Given the description of an element on the screen output the (x, y) to click on. 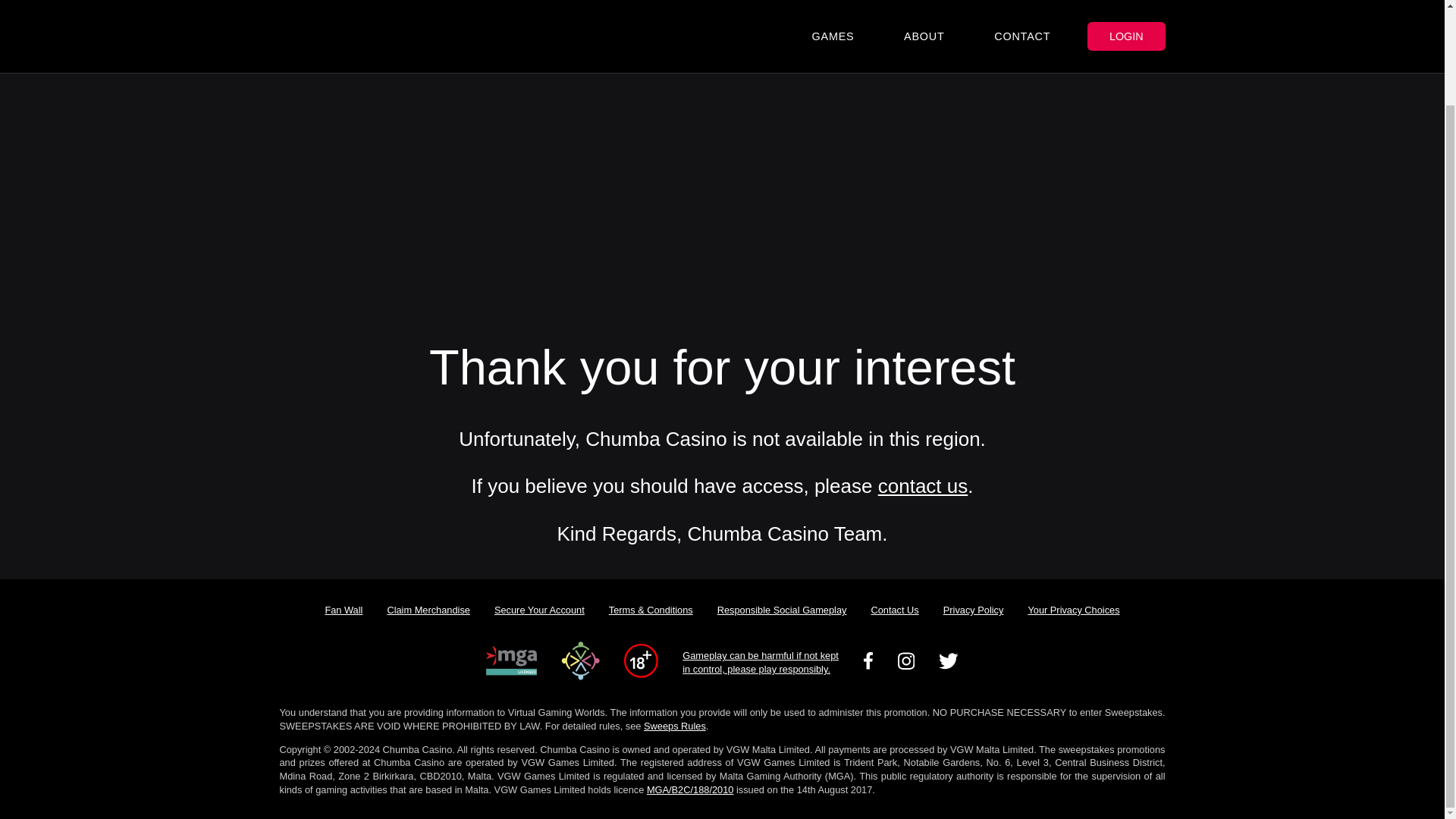
Your Privacy Choices (1072, 610)
Fan Wall (343, 610)
Sweeps Rules (674, 726)
Claim Merchandise (427, 610)
Contact Us (894, 610)
Privacy Policy (973, 610)
contact us (922, 486)
Secure Your Account (538, 610)
Responsible Social Gameplay (781, 610)
